Given the description of an element on the screen output the (x, y) to click on. 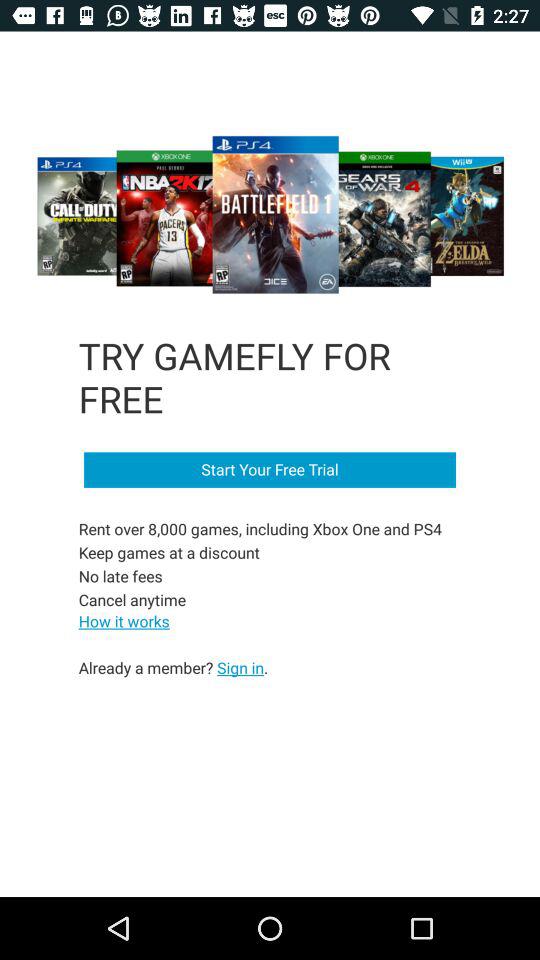
choose how it works on the left (123, 620)
